Given the description of an element on the screen output the (x, y) to click on. 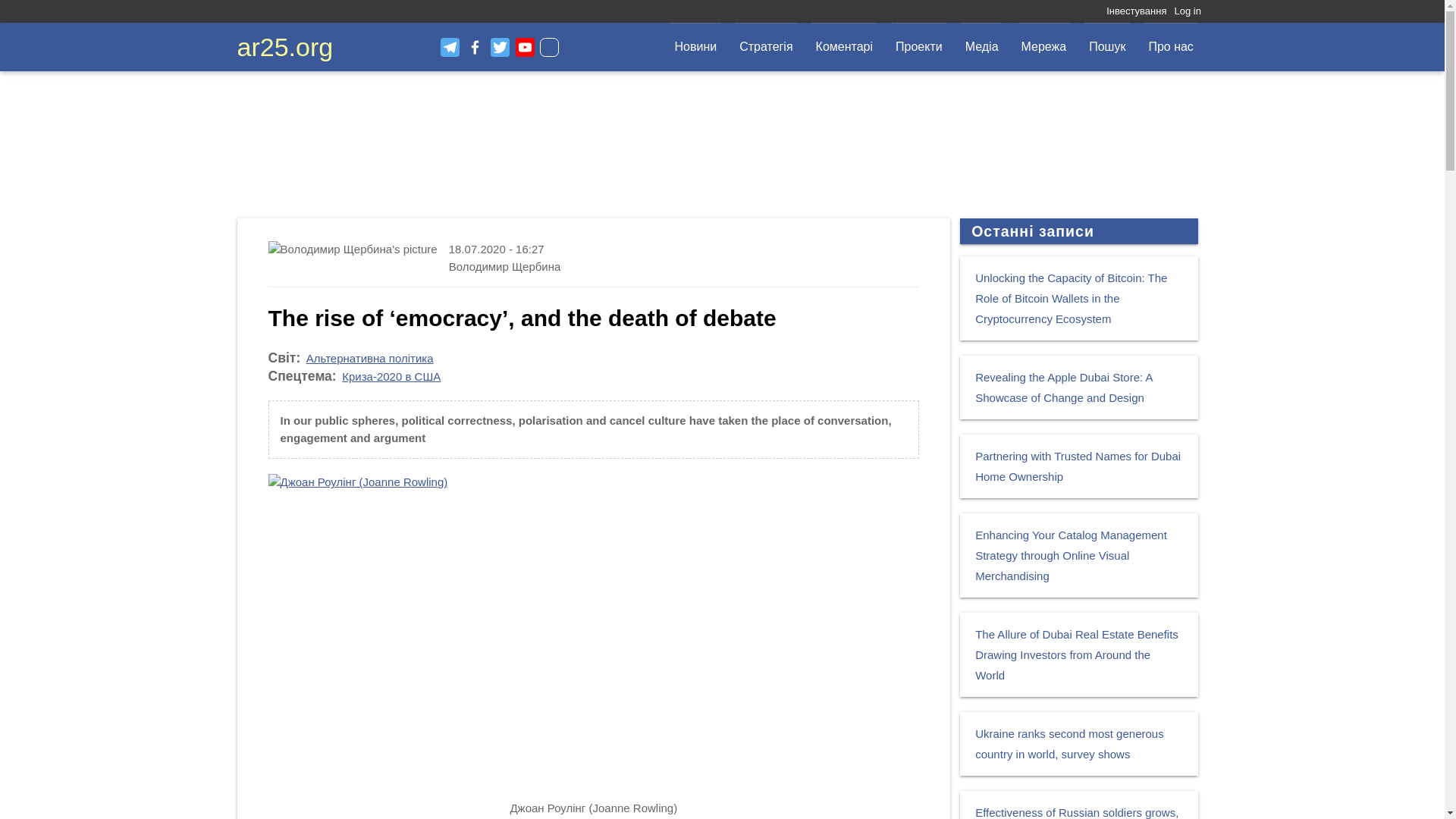
ar25.org (284, 46)
Log in (1186, 10)
Home (284, 46)
